Given the description of an element on the screen output the (x, y) to click on. 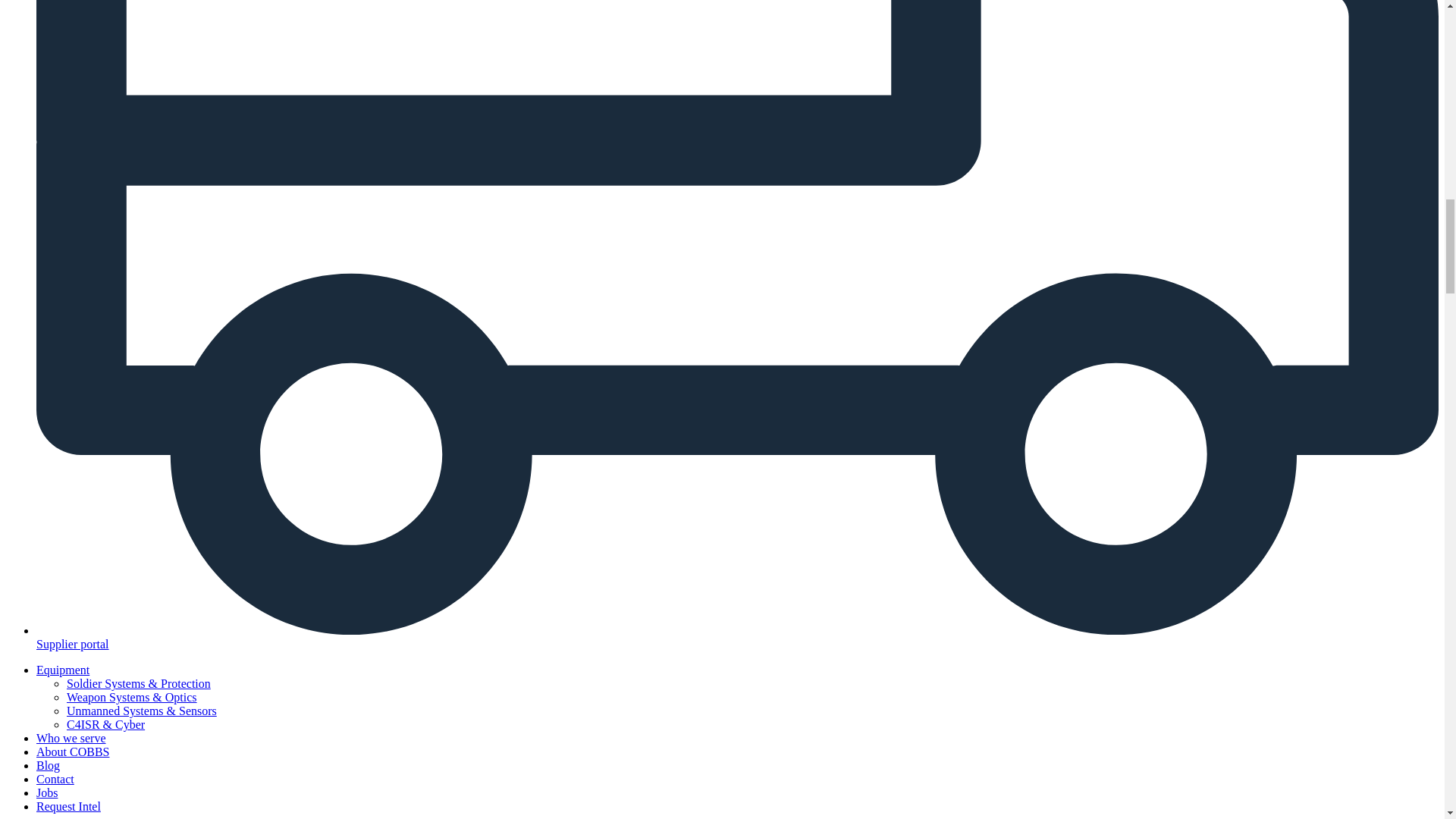
Contact (55, 779)
Jobs (47, 792)
Request Intel (68, 806)
Equipment (62, 669)
About COBBS (72, 751)
Who we serve (71, 738)
Blog (47, 765)
